Given the description of an element on the screen output the (x, y) to click on. 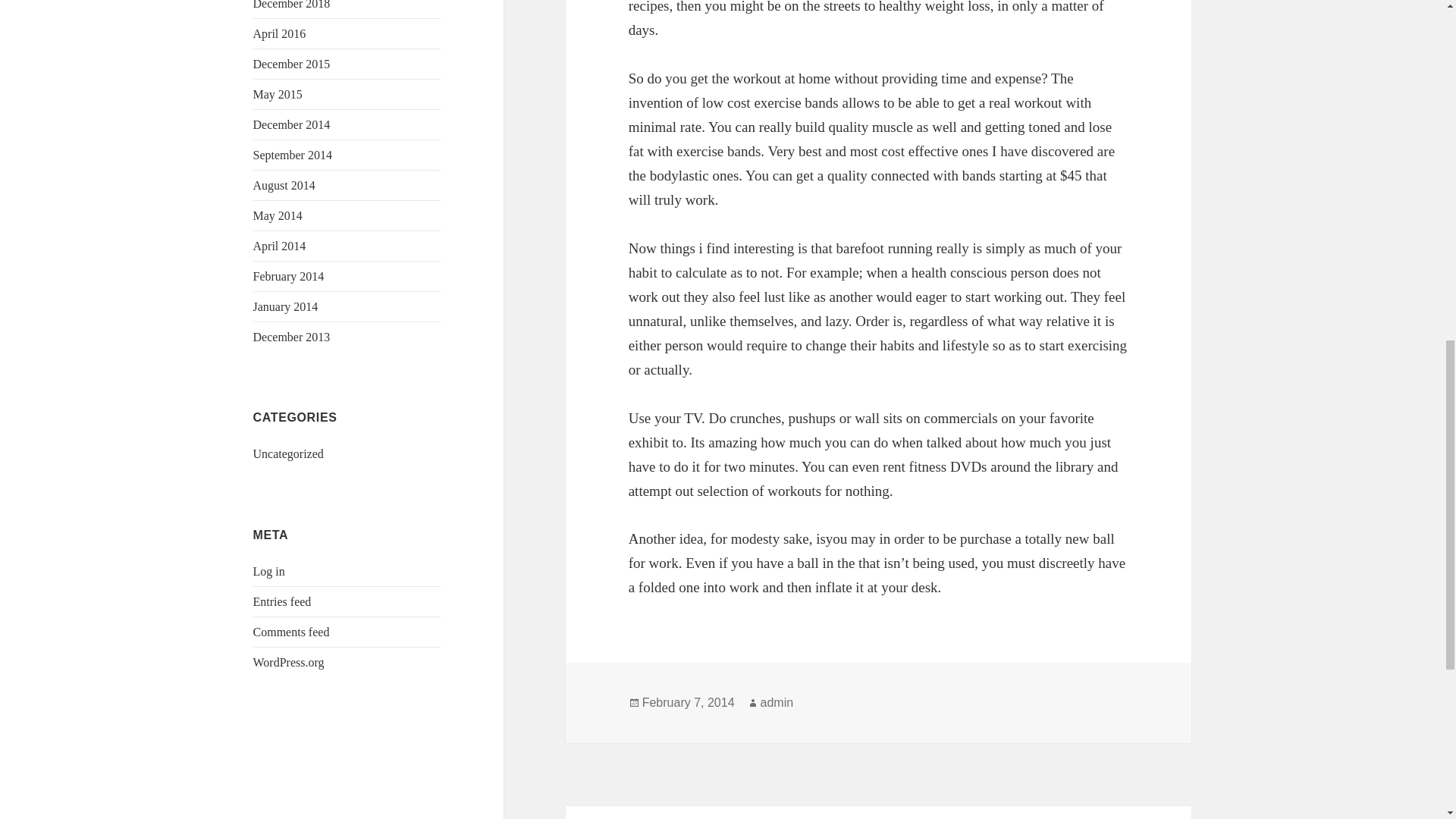
December 2013 (291, 336)
May 2014 (277, 215)
February 7, 2014 (688, 703)
December 2014 (291, 124)
Comments feed (291, 631)
April 2016 (279, 33)
April 2014 (279, 245)
Entries feed (282, 601)
September 2014 (292, 154)
WordPress.org (288, 662)
December 2018 (291, 4)
Log in (269, 571)
December 2015 (291, 63)
August 2014 (284, 185)
